Given the description of an element on the screen output the (x, y) to click on. 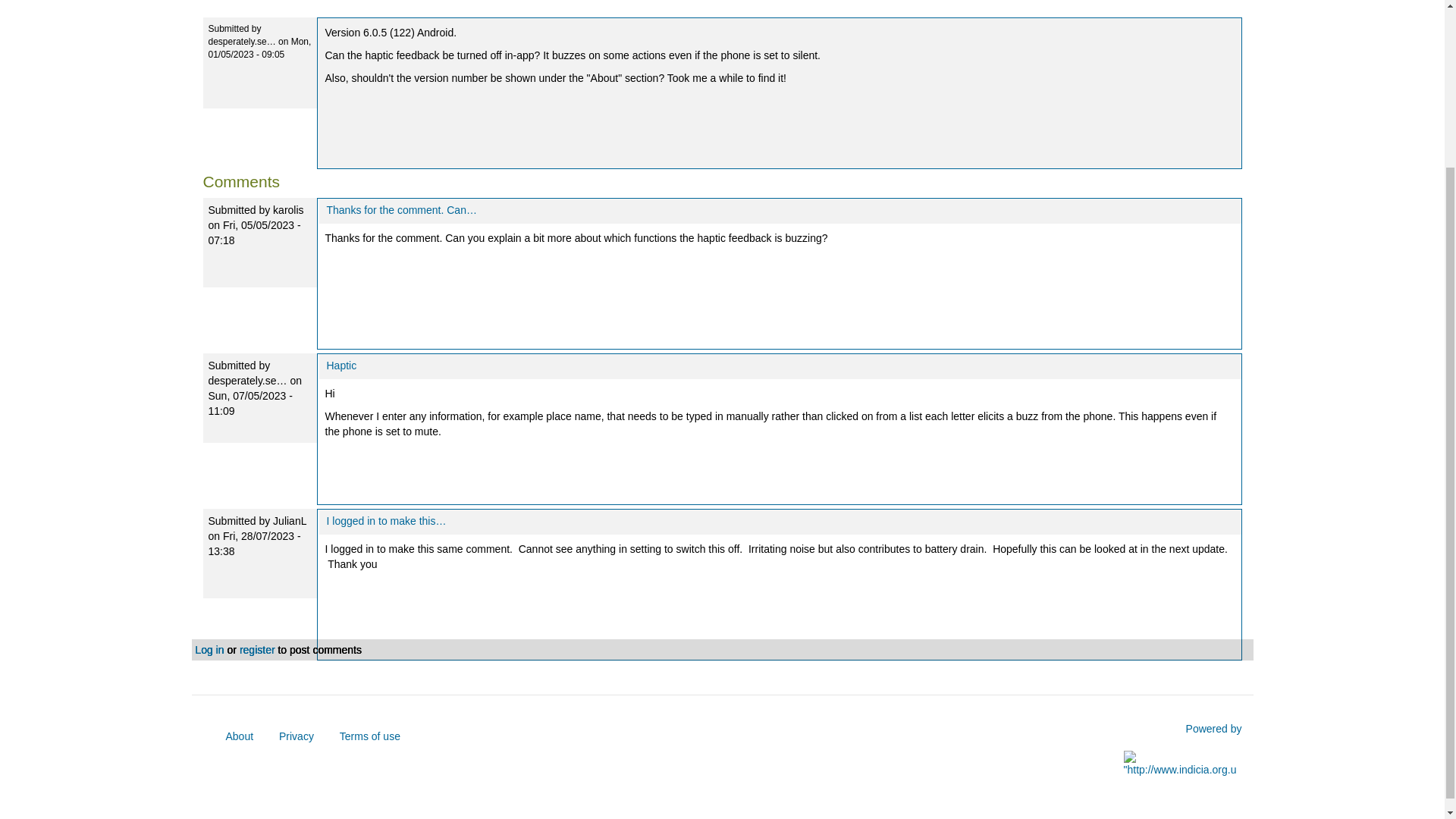
Monday, May 1, 2023 - 09:05 (259, 47)
Powered by (1213, 728)
